Given the description of an element on the screen output the (x, y) to click on. 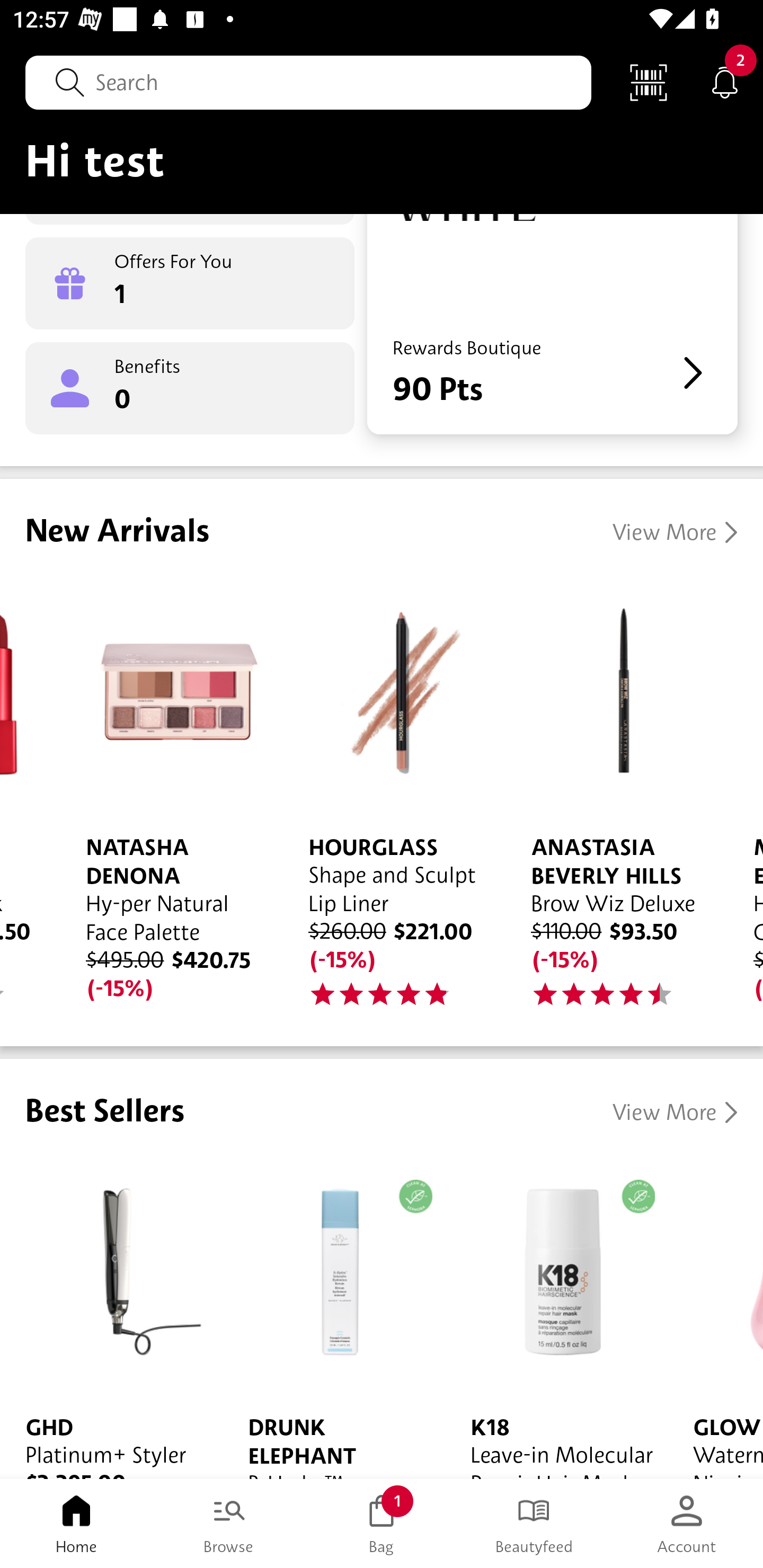
Scan Code (648, 81)
Notifications (724, 81)
Search (308, 81)
Rewards Boutique 90 Pts (552, 323)
Offers For You 1 (189, 282)
Benefits 0 (189, 387)
View More (674, 532)
View More (674, 1112)
GHD Platinum+ Styler $2,295.00 (111, 1316)
DRUNK ELEPHANT B-Hydra™ Intensive Hydration Serum (333, 1316)
K18 Leave-in Molecular Repair Hair Mask (555, 1316)
Browse (228, 1523)
Bag 1 Bag (381, 1523)
Beautyfeed (533, 1523)
Account (686, 1523)
